Given the description of an element on the screen output the (x, y) to click on. 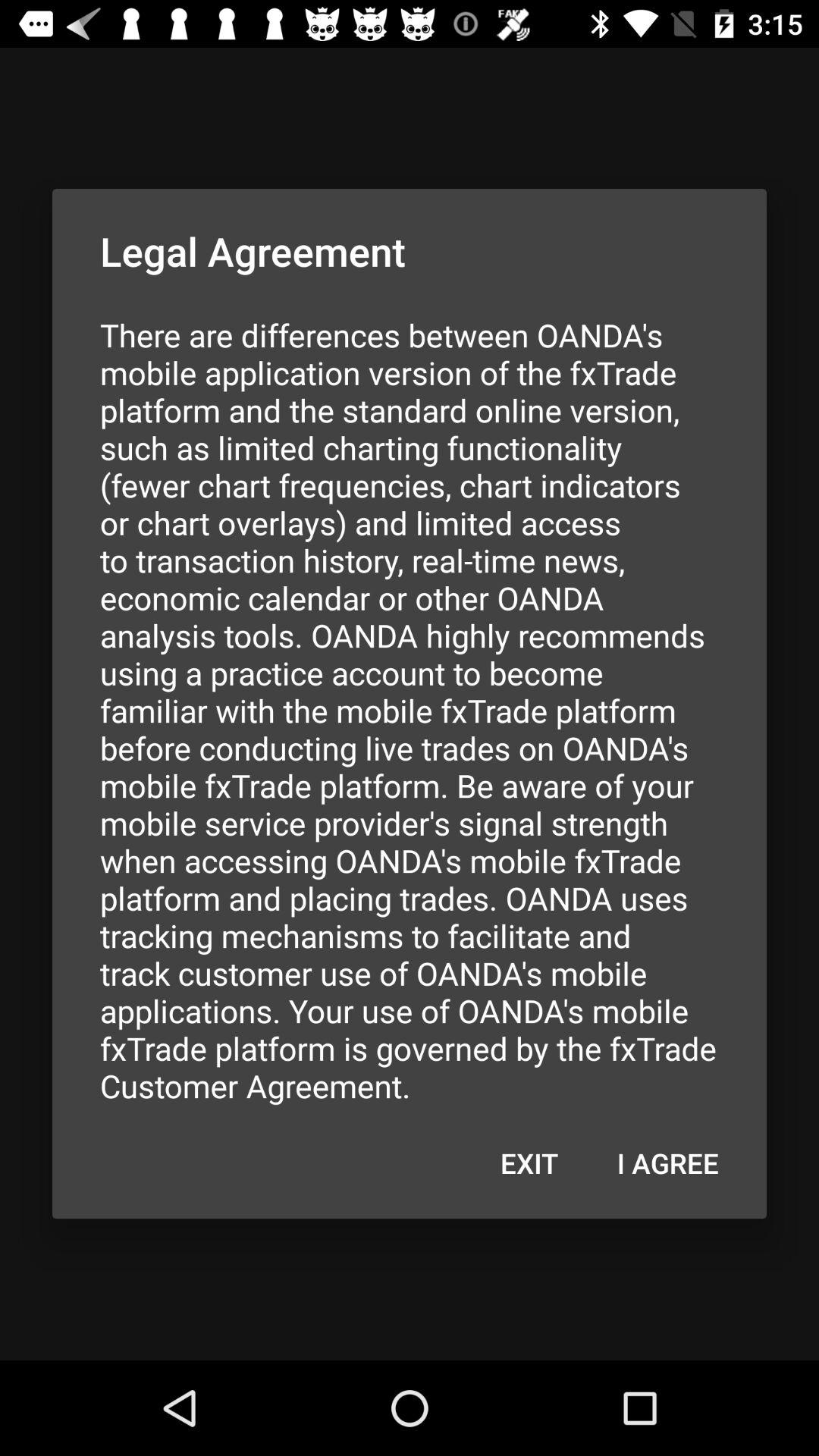
click the button to the right of exit icon (667, 1162)
